Given the description of an element on the screen output the (x, y) to click on. 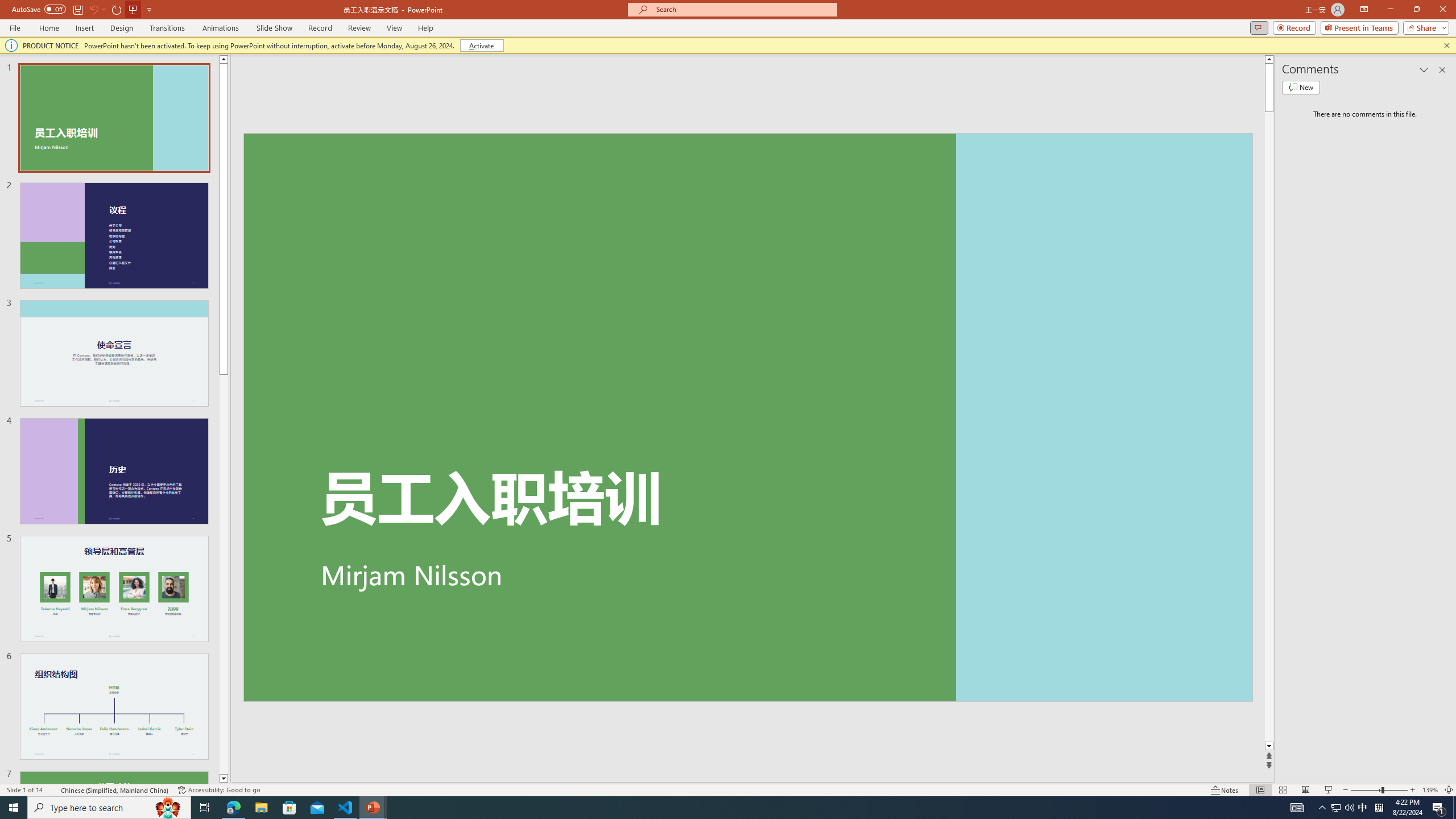
Close this message (1446, 45)
